Given the description of an element on the screen output the (x, y) to click on. 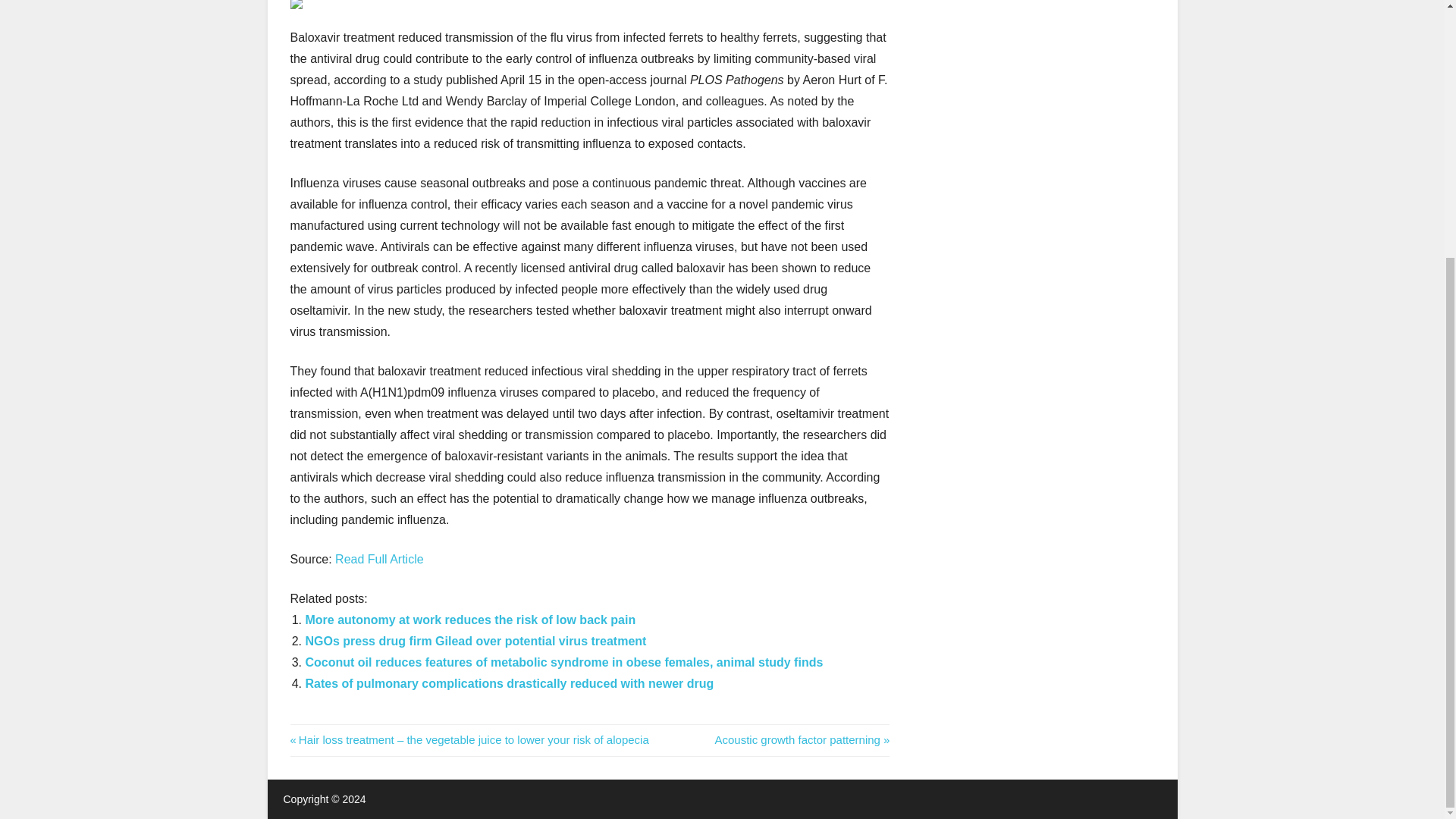
More autonomy at work reduces the risk of low back pain (469, 619)
More autonomy at work reduces the risk of low back pain (469, 619)
Read Full Article (378, 558)
among (309, 732)
NGOs press drug firm Gilead over potential virus treatment (475, 640)
NGOs press drug firm Gilead over potential virus treatment (475, 640)
